Given the description of an element on the screen output the (x, y) to click on. 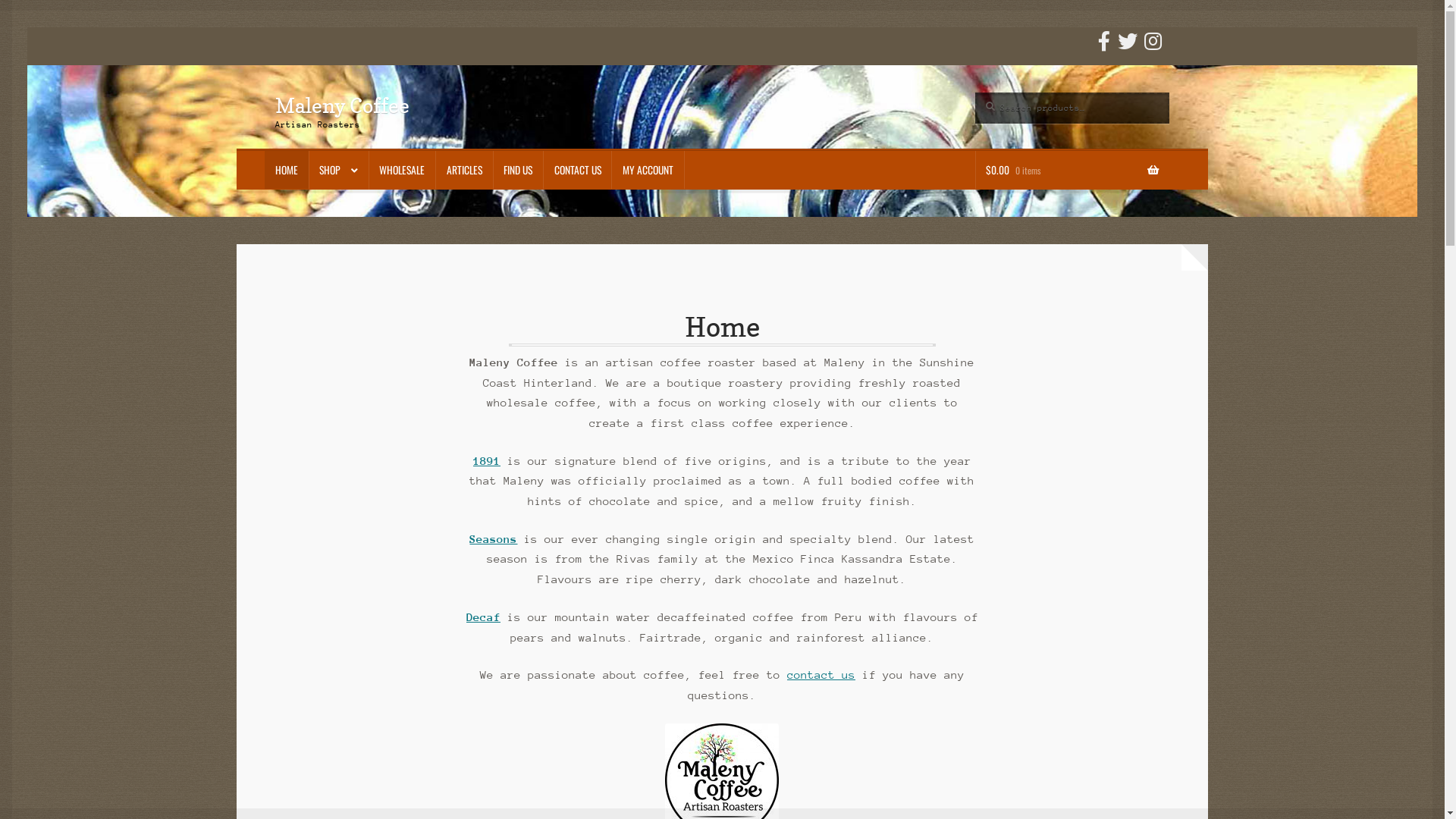
Seasons Element type: text (493, 538)
ARTICLES Element type: text (464, 169)
WHOLESALE Element type: text (402, 169)
SHOP Element type: text (338, 169)
contact us Element type: text (821, 674)
$0.00 0 items Element type: text (1072, 169)
MY ACCOUNT Element type: text (647, 169)
1891 Element type: text (486, 460)
Visit Maleny Coffee on Facebook Element type: hover (1104, 45)
FIND US Element type: text (517, 169)
Maleny Coffee Element type: text (342, 104)
Decaf Element type: text (483, 616)
HOME Element type: text (285, 169)
Skip to navigation Element type: text (274, 91)
Visit Maleny Coffee on Instagram Element type: hover (1152, 45)
Visit Maleny Coffee on Twitter Element type: hover (1127, 45)
CONTACT US Element type: text (577, 169)
Search Element type: text (974, 91)
